Given the description of an element on the screen output the (x, y) to click on. 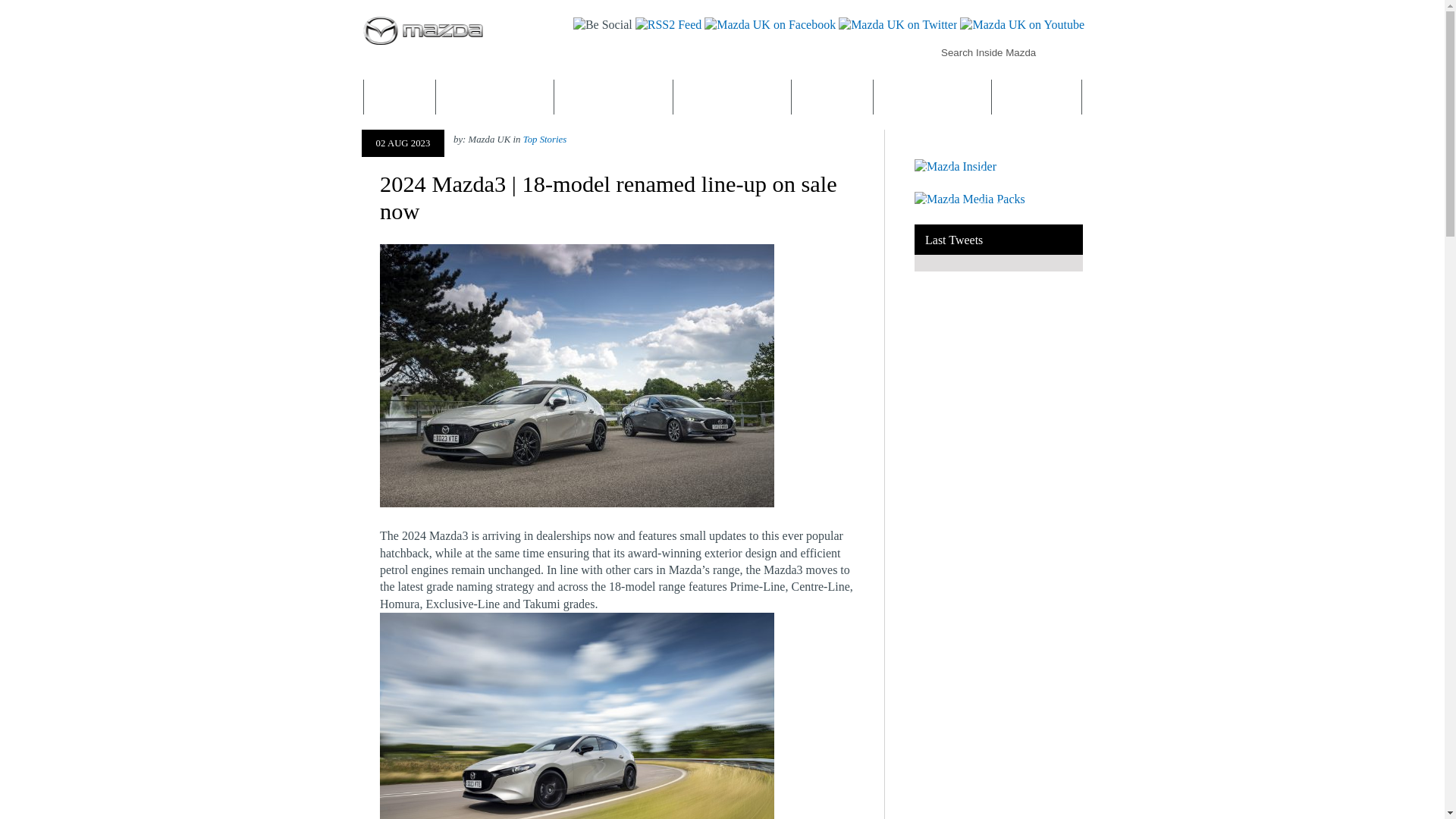
Mazda Insider (954, 165)
RANGE (614, 96)
AWARDS (1037, 96)
HOME (398, 96)
Inside Mazda (548, 74)
Search Inside Mazda (1072, 52)
TECHNOLOGY (733, 96)
Top Stories (544, 139)
Mazda UK on Twitter (895, 24)
Search Inside Mazda (999, 52)
